Given the description of an element on the screen output the (x, y) to click on. 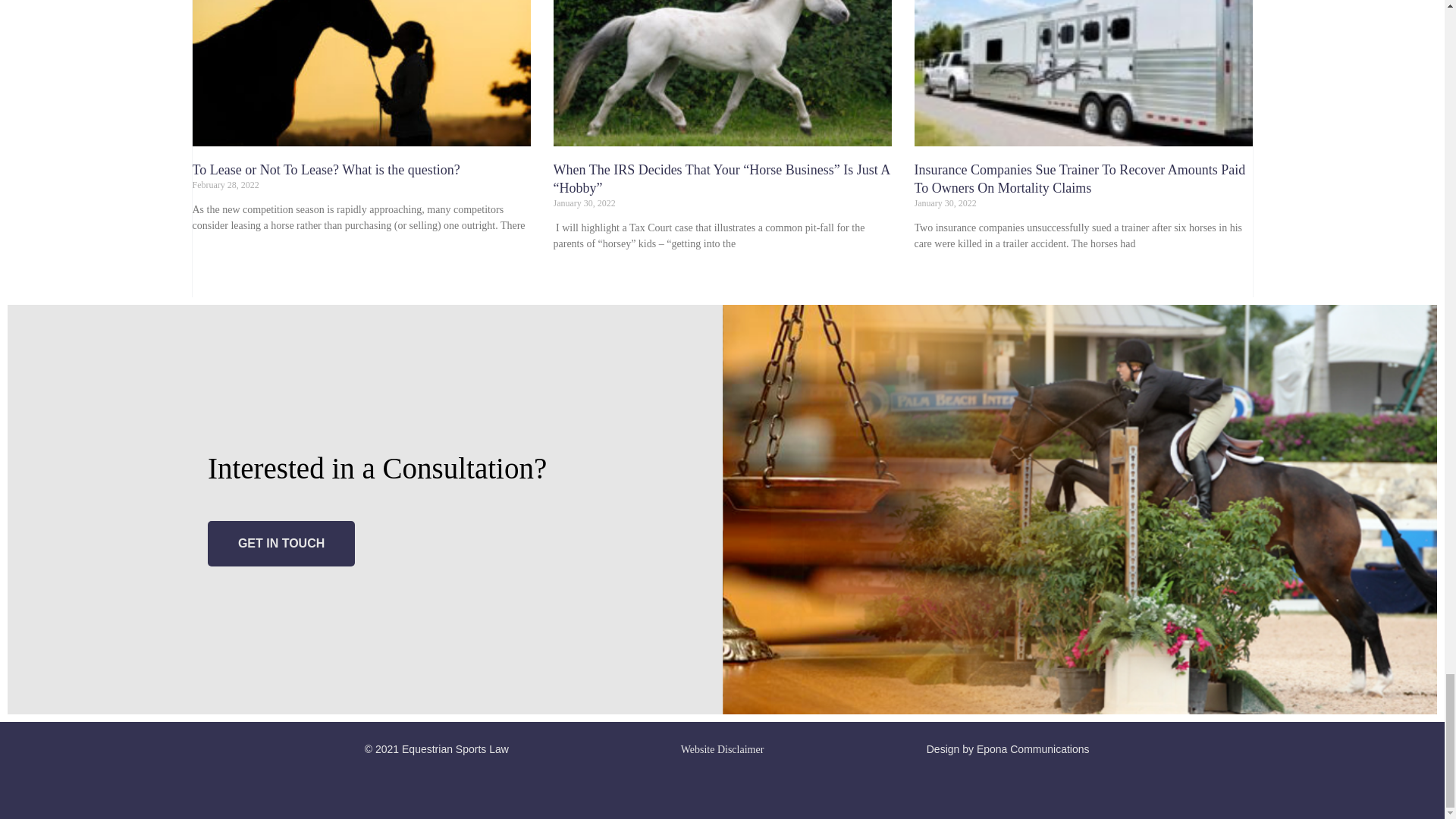
To Lease or Not To Lease? What is the question? (326, 169)
